Given the description of an element on the screen output the (x, y) to click on. 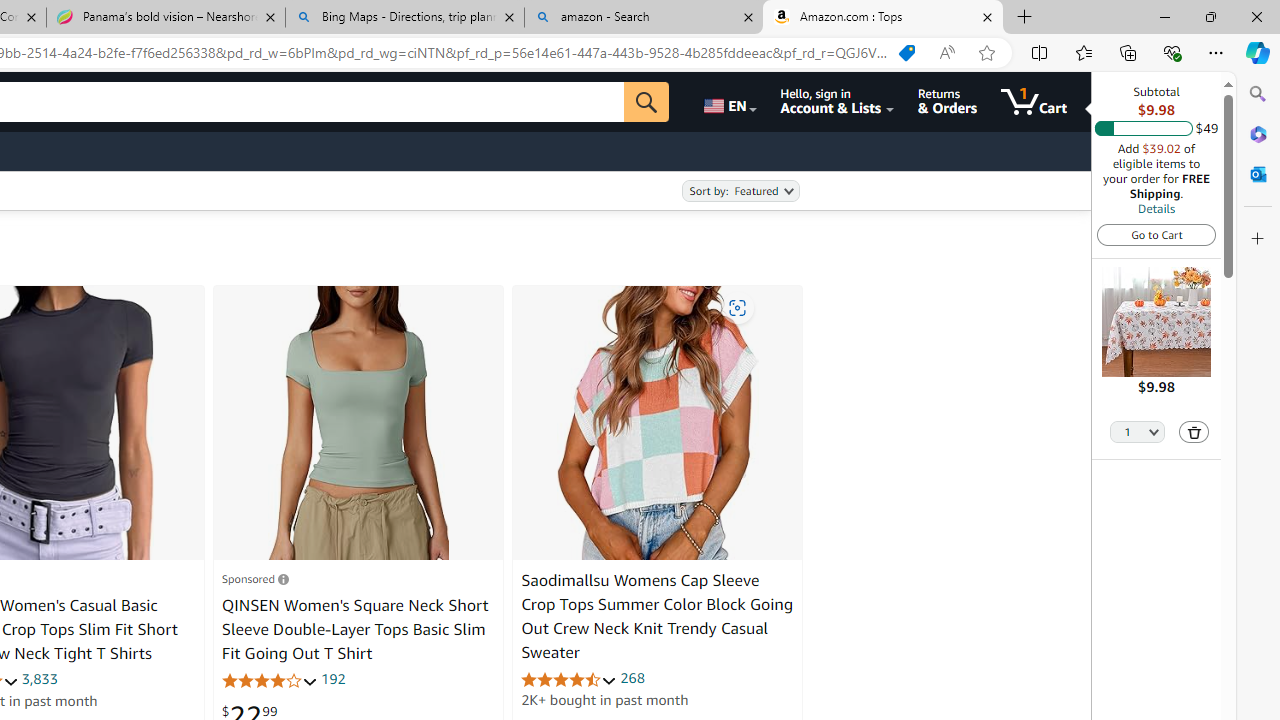
Amazon.com : Tops (883, 17)
Hello, sign in Account & Lists (836, 101)
Quantity Selector (1137, 430)
